Given the description of an element on the screen output the (x, y) to click on. 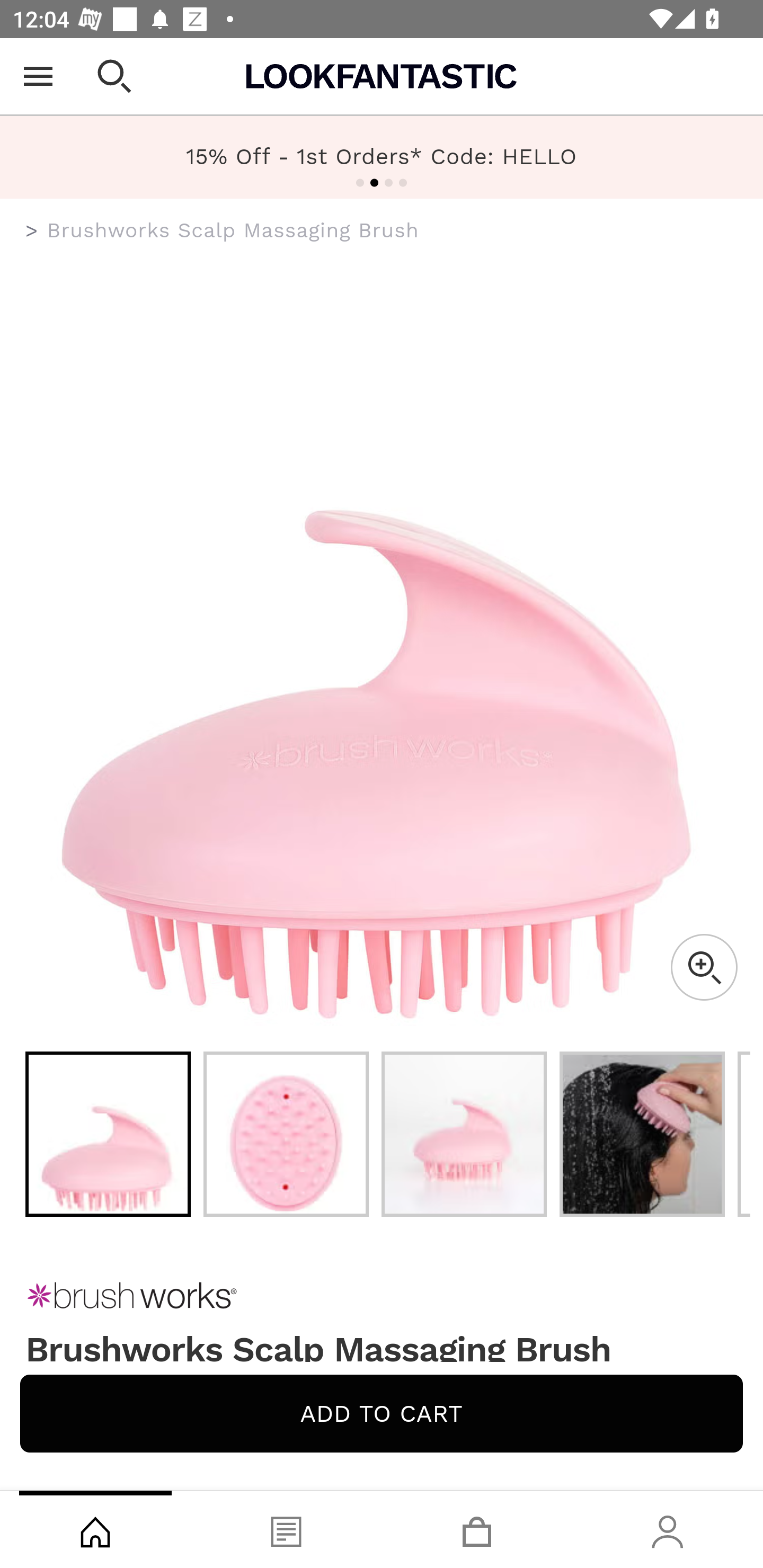
Open Menu (38, 75)
Open search (114, 75)
Lookfantastic USA (381, 75)
us.lookfantastic (32, 230)
Zoom (703, 966)
Open image 1 - Brushworks Scalp Massaging Brush (107, 1133)
Open image 2 - Brushworks Scalp Massaging Brush (285, 1133)
Open image 3 - Brushworks Scalp Massaging Brush (464, 1133)
Open image 4 - Brushworks Scalp Massaging Brush (641, 1133)
Brushworks (381, 1295)
Add to cart (381, 1413)
Shop, tab, 1 of 4 (95, 1529)
Blog, tab, 2 of 4 (285, 1529)
Basket, tab, 3 of 4 (476, 1529)
Account, tab, 4 of 4 (667, 1529)
